Given the description of an element on the screen output the (x, y) to click on. 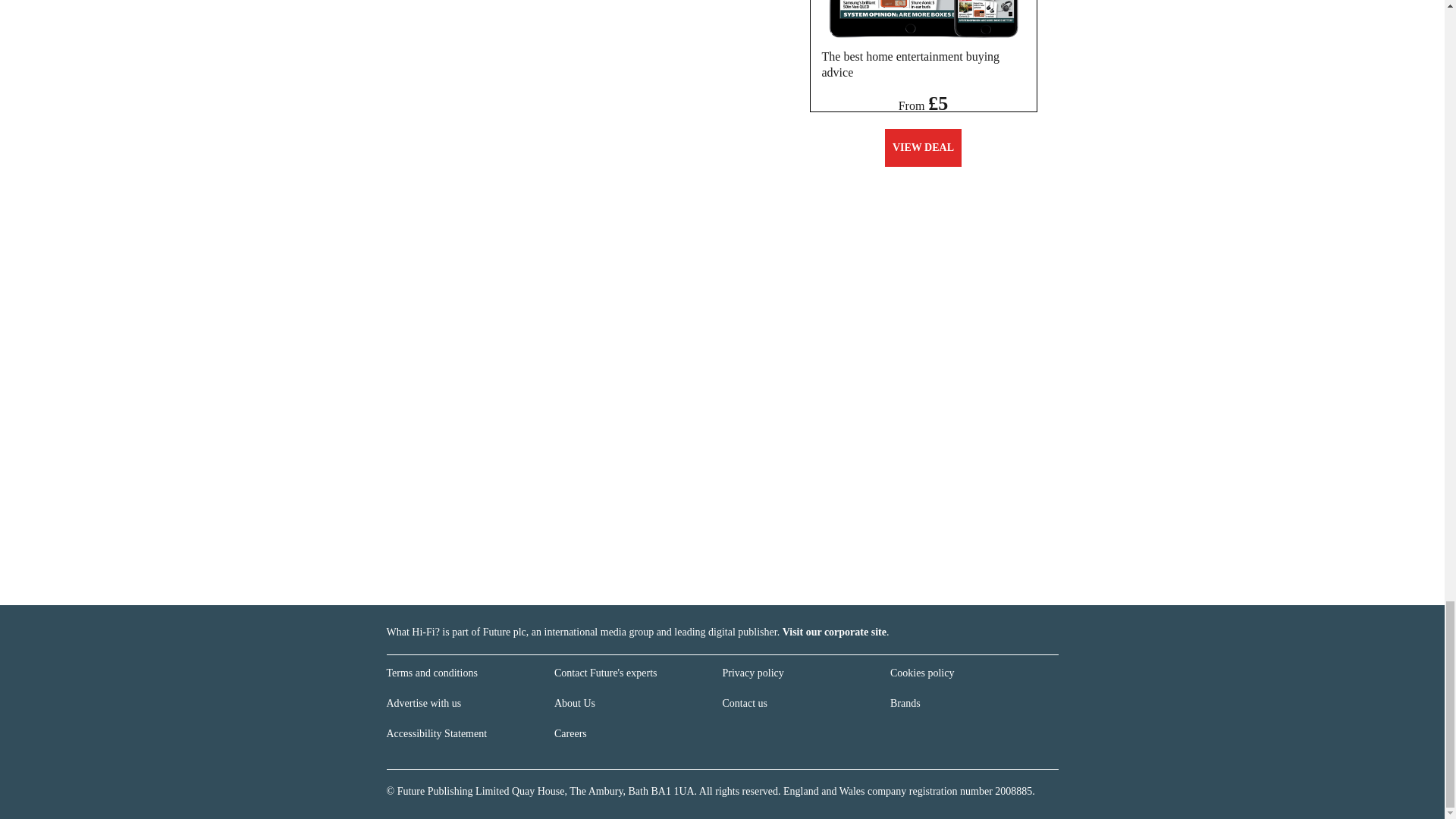
What Hi-Fi Magazine... (922, 18)
